Given the description of an element on the screen output the (x, y) to click on. 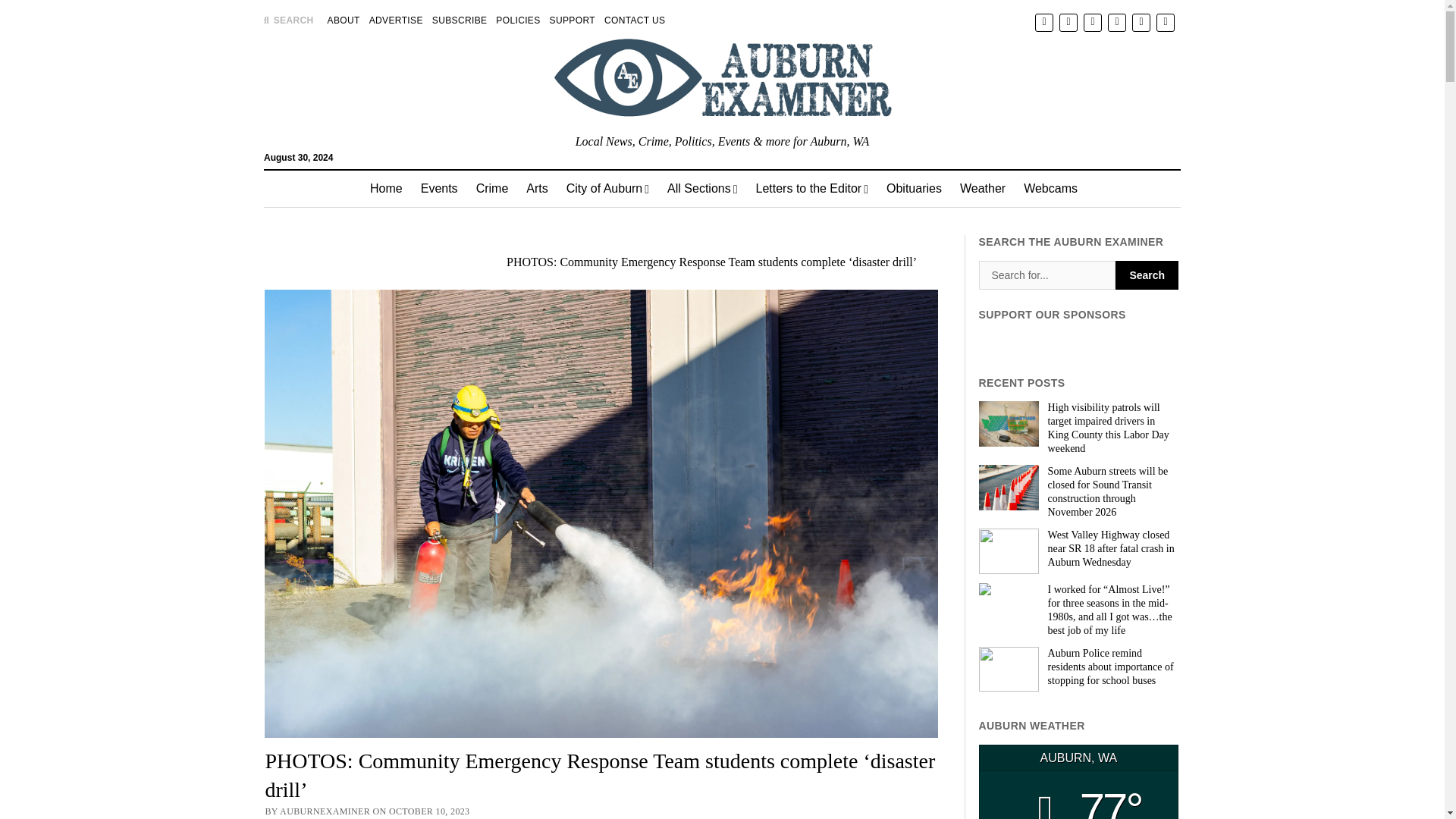
Search (945, 129)
POLICIES (518, 20)
Crime (492, 188)
City of Auburn (607, 188)
SUBSCRIBE (459, 20)
SUPPORT (572, 20)
Search (1146, 275)
Home (386, 188)
ABOUT (343, 20)
ADVERTISE (396, 20)
